Given the description of an element on the screen output the (x, y) to click on. 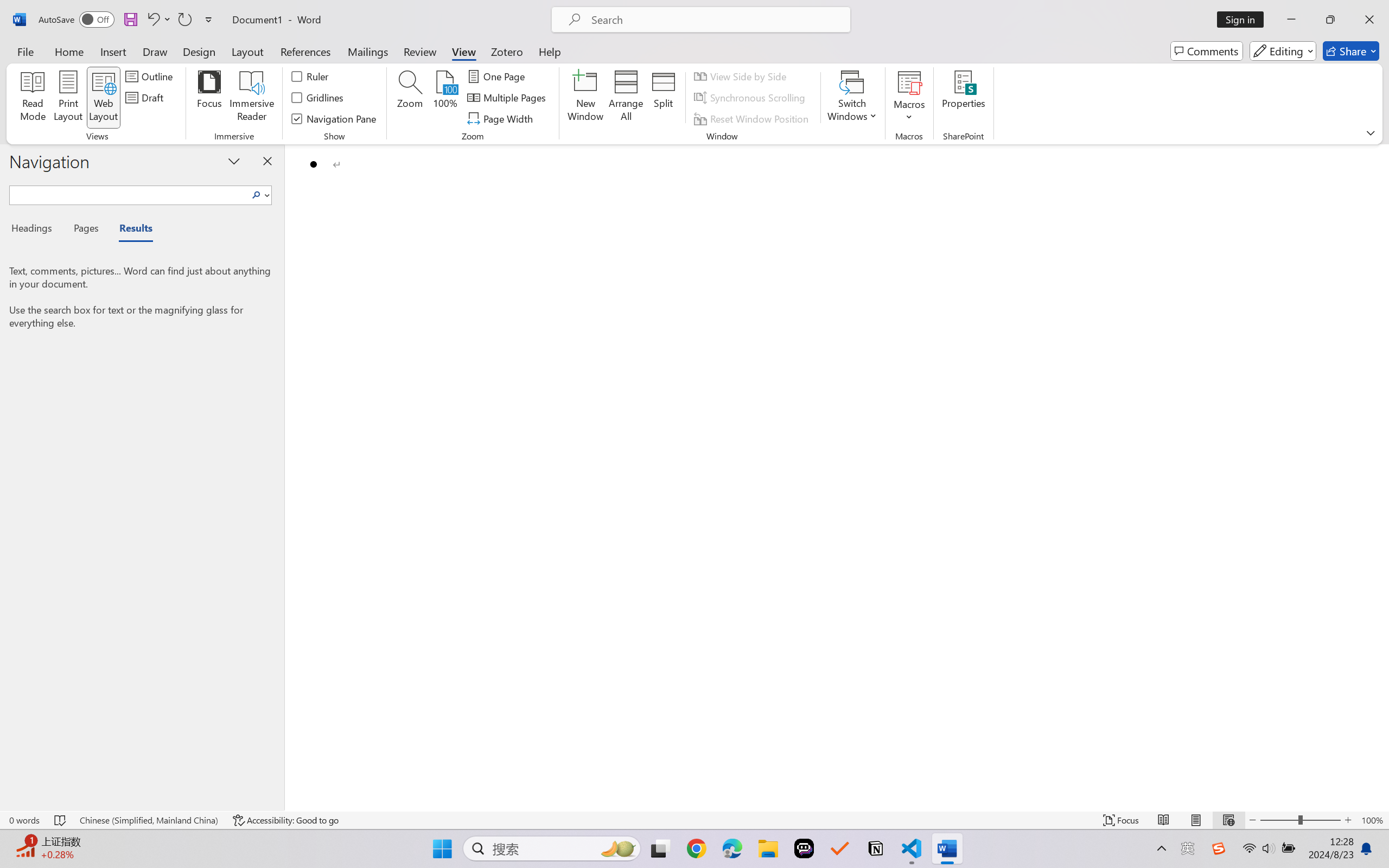
Focus (209, 97)
One Page (497, 75)
Page Width (501, 118)
Draft (146, 97)
Undo Bullet Default (158, 19)
New Window (585, 97)
